Given the description of an element on the screen output the (x, y) to click on. 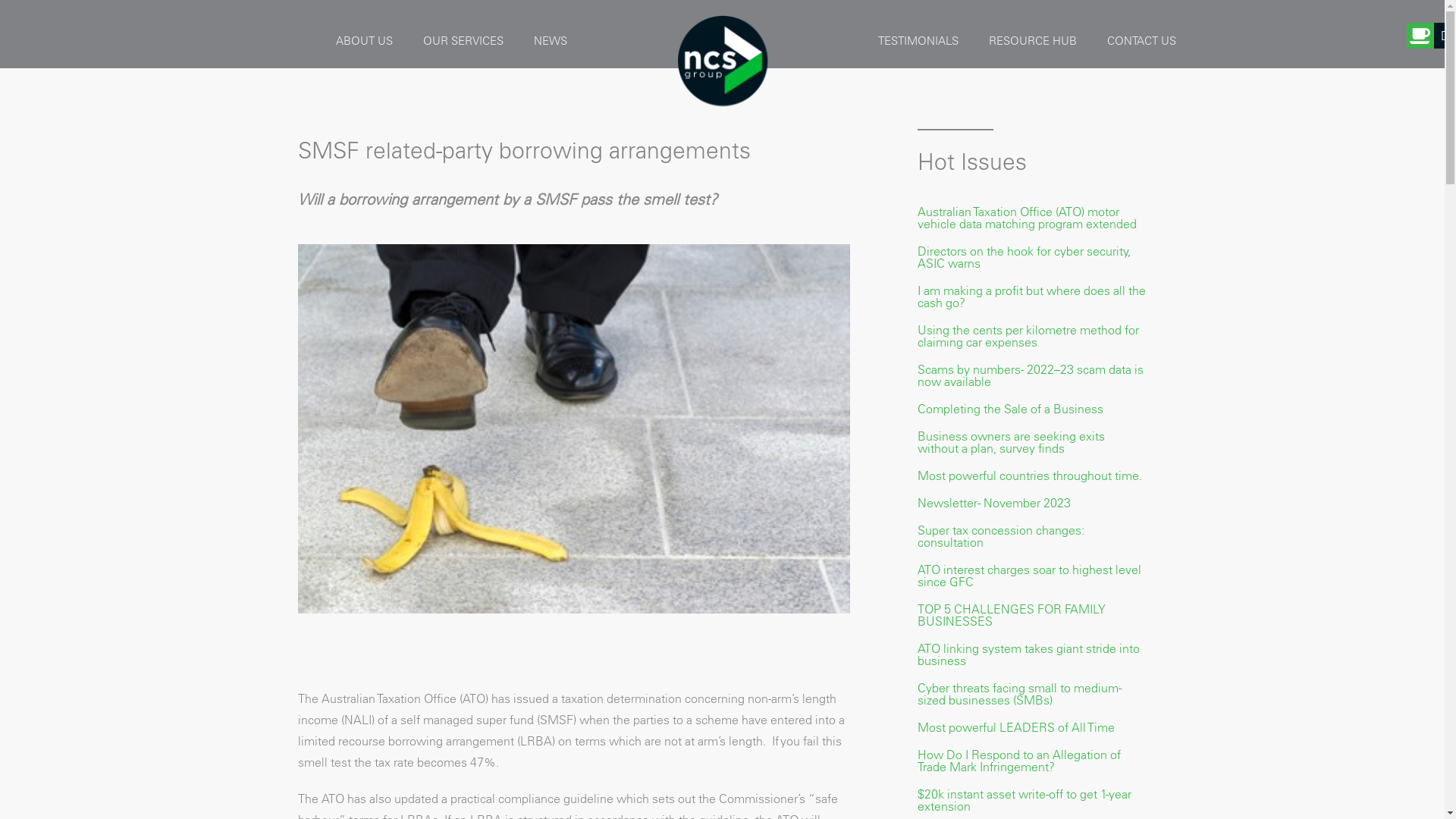
OUR SERVICES Element type: text (463, 40)
RESOURCE HUB Element type: text (1032, 40)
Super tax concession changes: consultation Element type: text (1000, 535)
NEWS Element type: text (550, 40)
Cyber threats facing small to medium-sized businesses (SMBs) Element type: text (1019, 693)
Newsletter - November 2023 Element type: text (993, 502)
I am making a profit but where does all the cash go? Element type: text (1031, 296)
$20k instant asset write-off to get 1-year extension Element type: text (1024, 799)
ATO interest charges soar to highest level since GFC Element type: text (1029, 575)
CONTACT US Element type: text (1141, 40)
Most powerful LEADERS of All Time Element type: text (1015, 726)
Completing the Sale of a Business Element type: text (1010, 408)
ABOUT US Element type: text (363, 40)
ATO linking system takes giant stride into business Element type: text (1028, 654)
Most powerful countries throughout time. Element type: text (1029, 475)
TESTIMONIALS Element type: text (918, 40)
TOP 5 CHALLENGES FOR FAMILY BUSINESSES Element type: text (1011, 614)
Directors on the hook for cyber security, ASIC warns Element type: text (1023, 256)
